Given the description of an element on the screen output the (x, y) to click on. 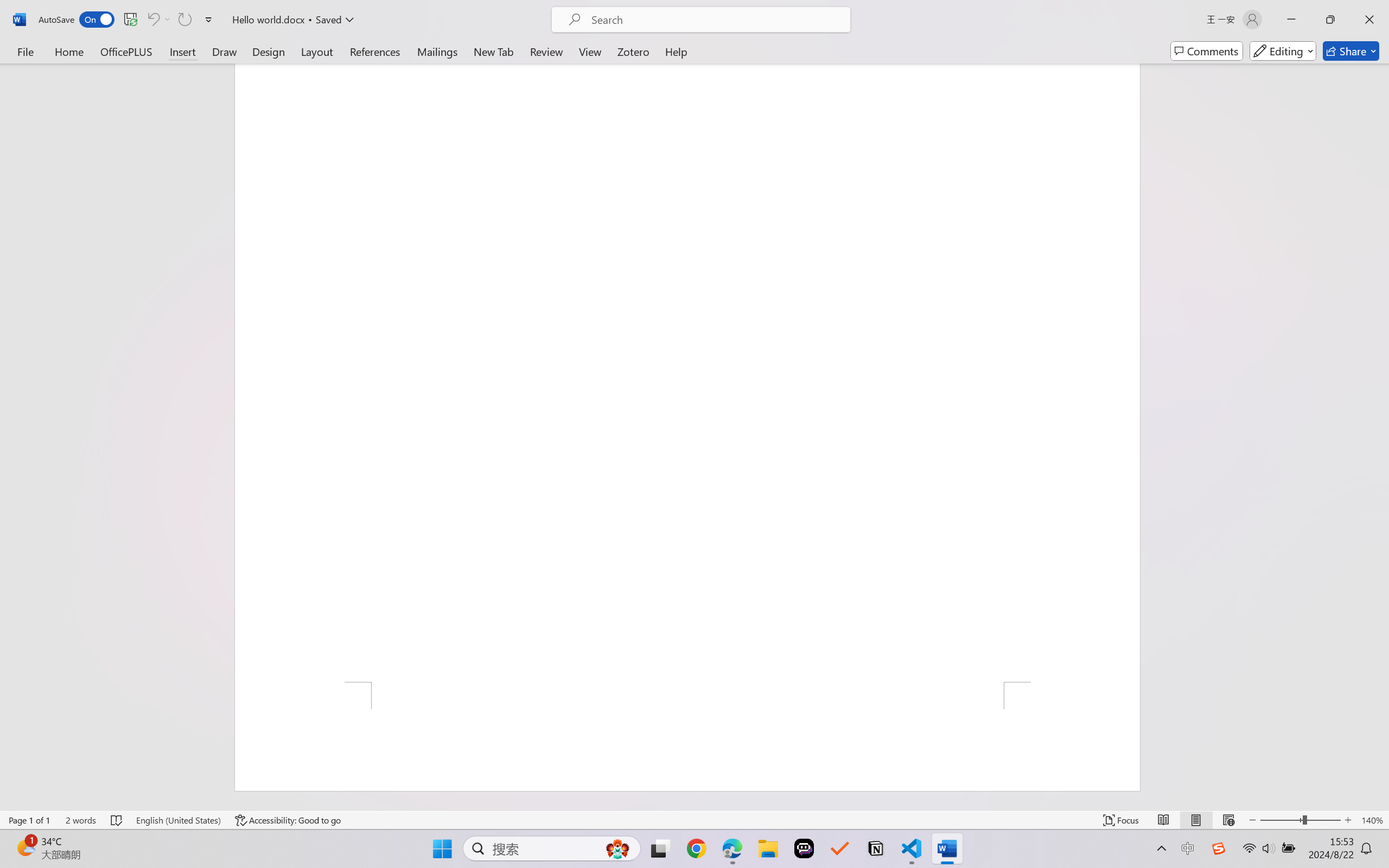
Zotero (632, 51)
File Tab (24, 51)
Print Layout (1196, 819)
Can't Undo (152, 19)
Layout (316, 51)
Mode (1283, 50)
Class: Image (1218, 847)
Design (268, 51)
AutomationID: BadgeAnchorLargeTicker (24, 847)
Share (1350, 51)
Language English (United States) (178, 819)
Focus  (1121, 819)
Close (1369, 19)
Restore Down (1330, 19)
Zoom Out (1280, 819)
